Given the description of an element on the screen output the (x, y) to click on. 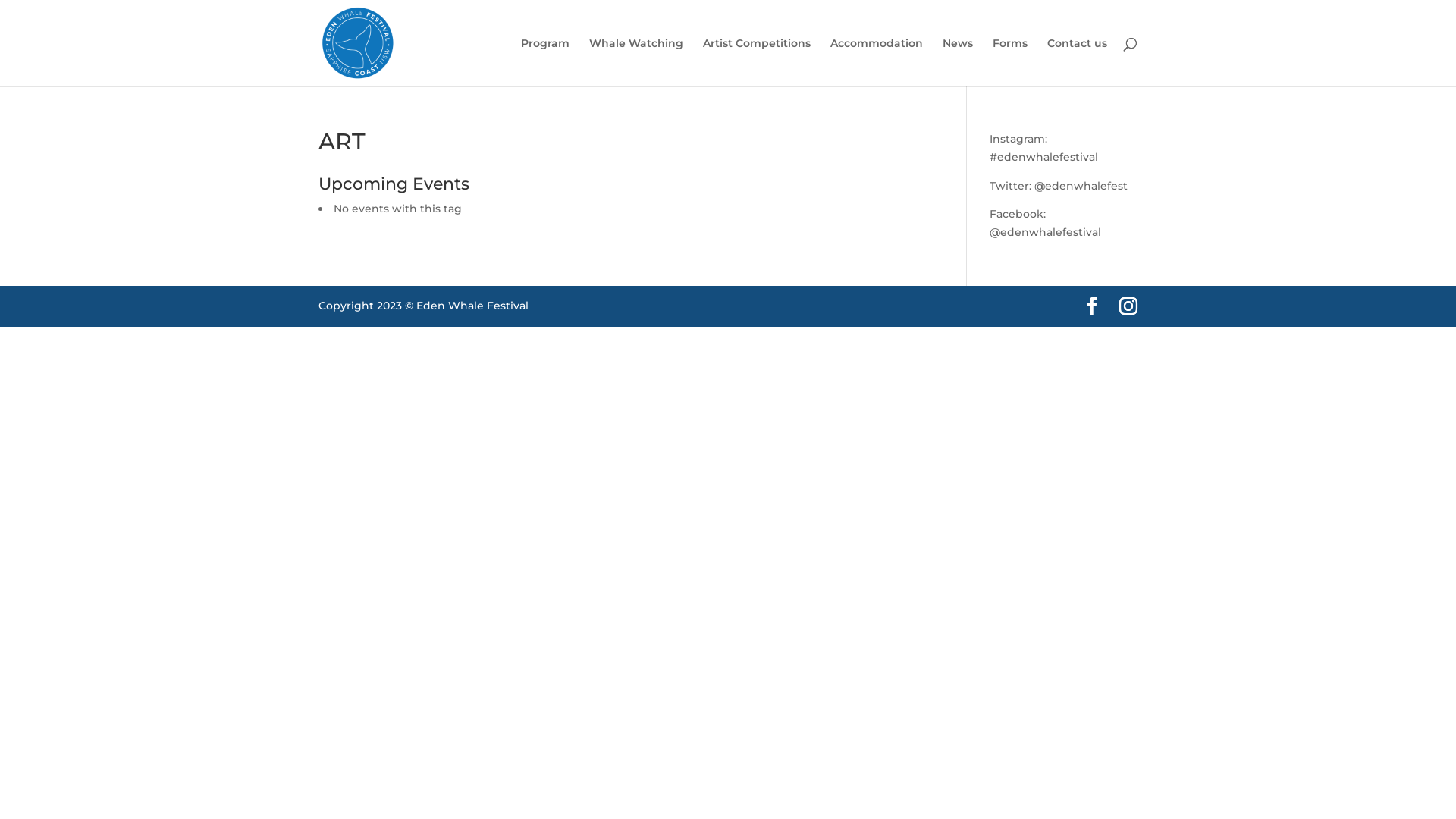
Program Element type: text (544, 61)
Whale Watching Element type: text (636, 61)
News Element type: text (957, 61)
@edenwhalefestival Element type: text (1045, 231)
Forms Element type: text (1009, 61)
Artist Competitions Element type: text (756, 61)
Accommodation Element type: text (876, 61)
@edenwhalefest Element type: text (1080, 185)
#edenwhalefestival Element type: text (1043, 156)
Contact us Element type: text (1077, 61)
